Given the description of an element on the screen output the (x, y) to click on. 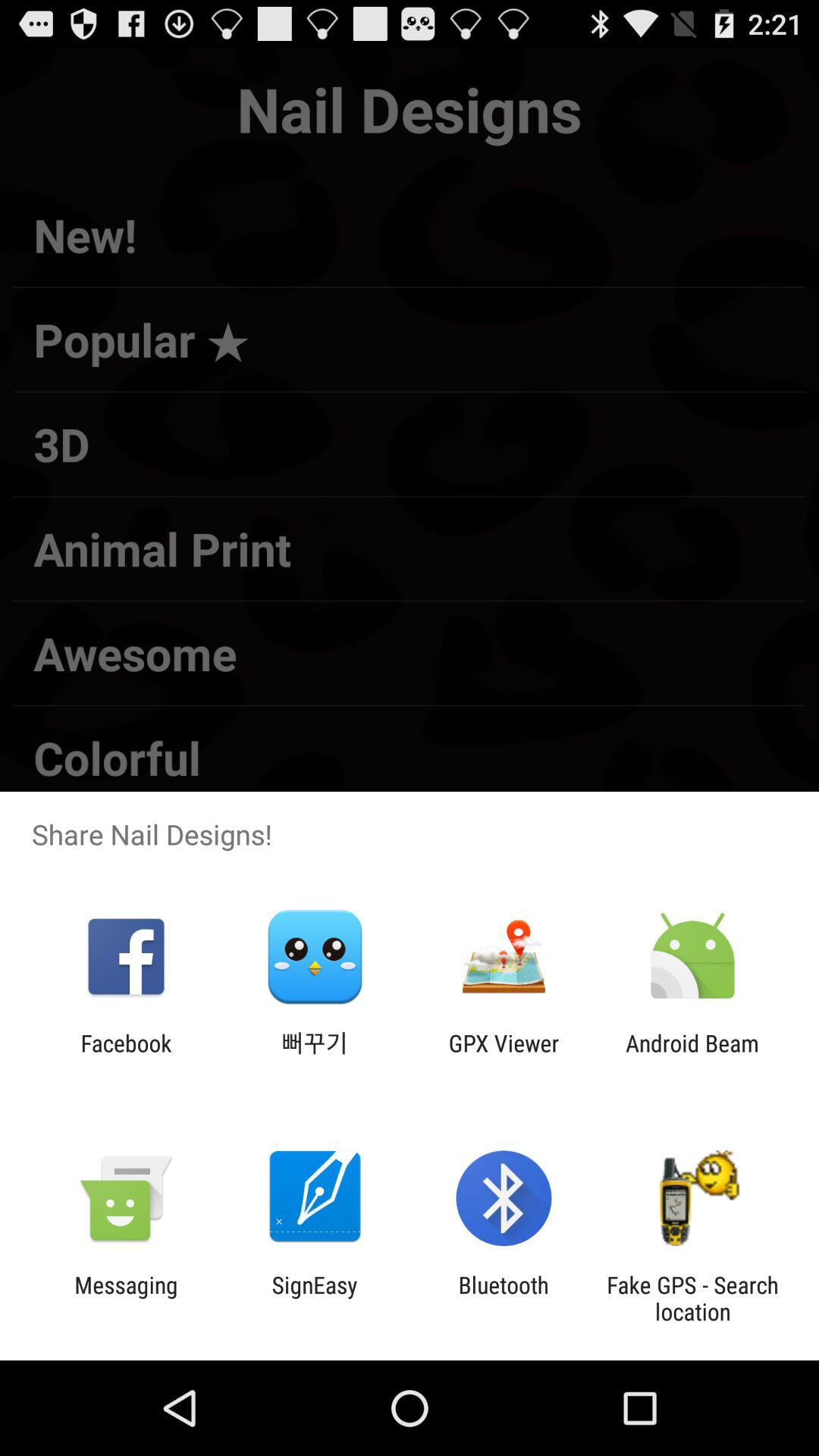
press the messaging app (126, 1298)
